Given the description of an element on the screen output the (x, y) to click on. 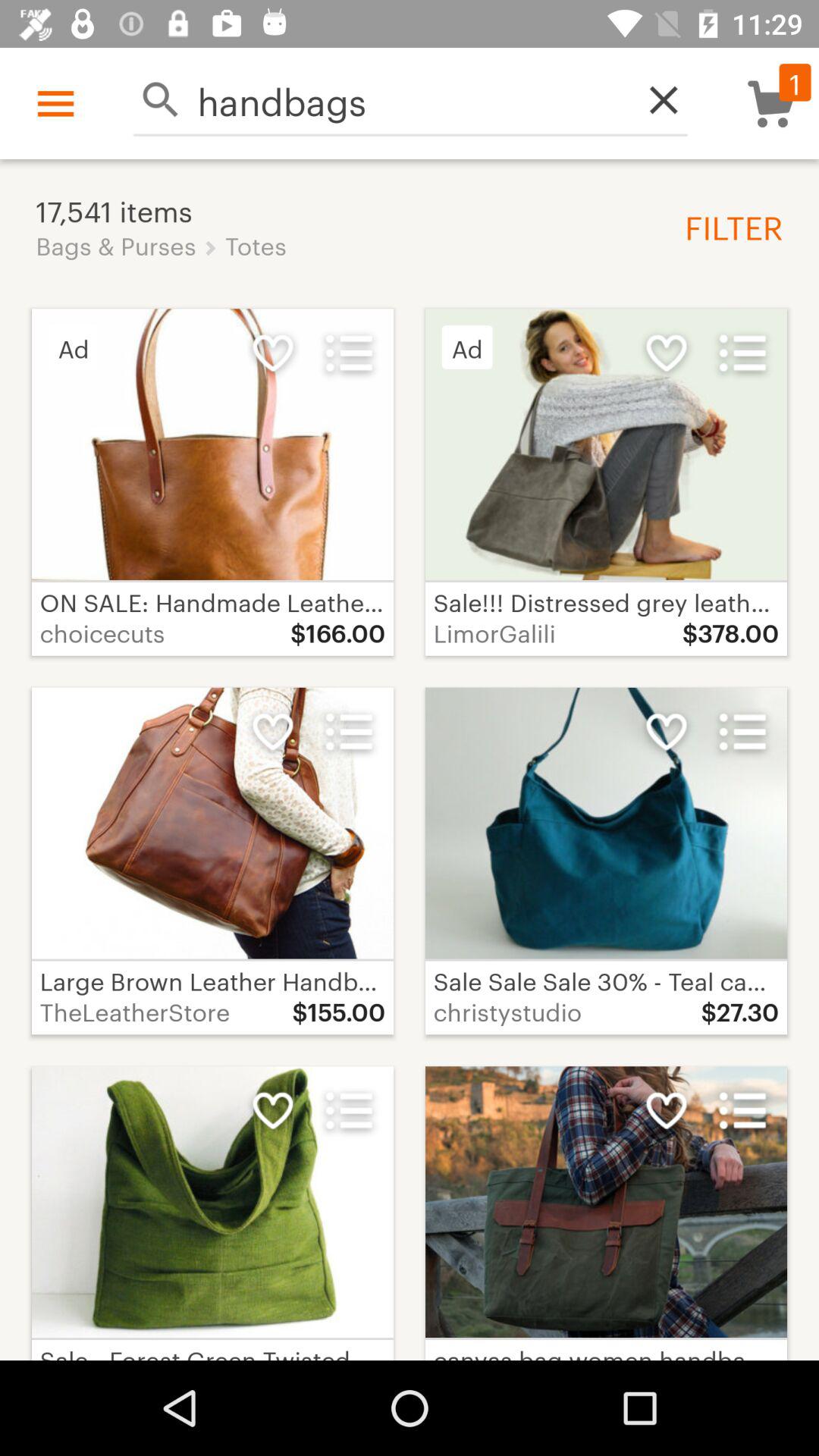
flip to handbags item (410, 99)
